Given the description of an element on the screen output the (x, y) to click on. 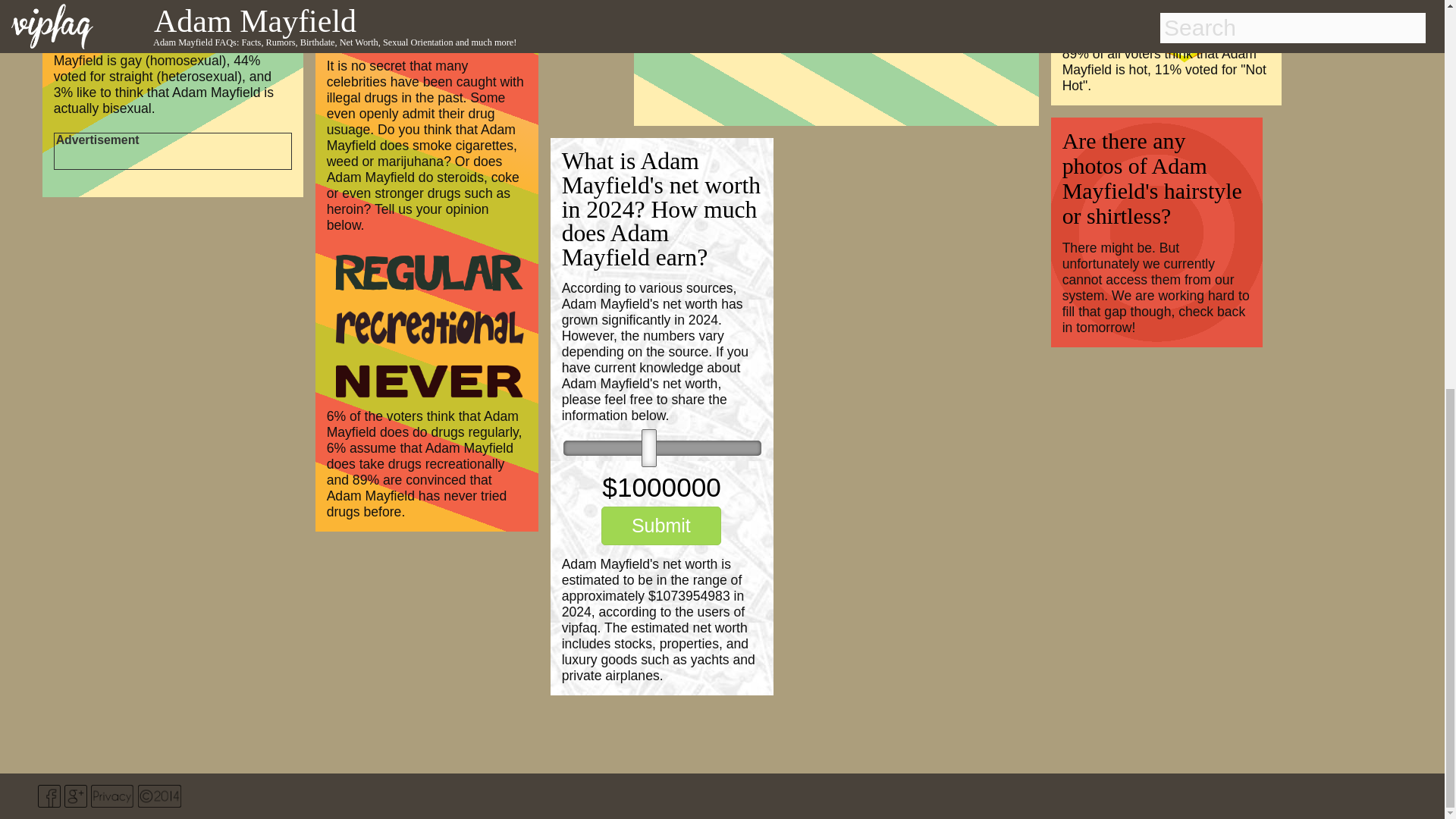
6 (662, 447)
Submit (660, 525)
Bi (94, 7)
